Given the description of an element on the screen output the (x, y) to click on. 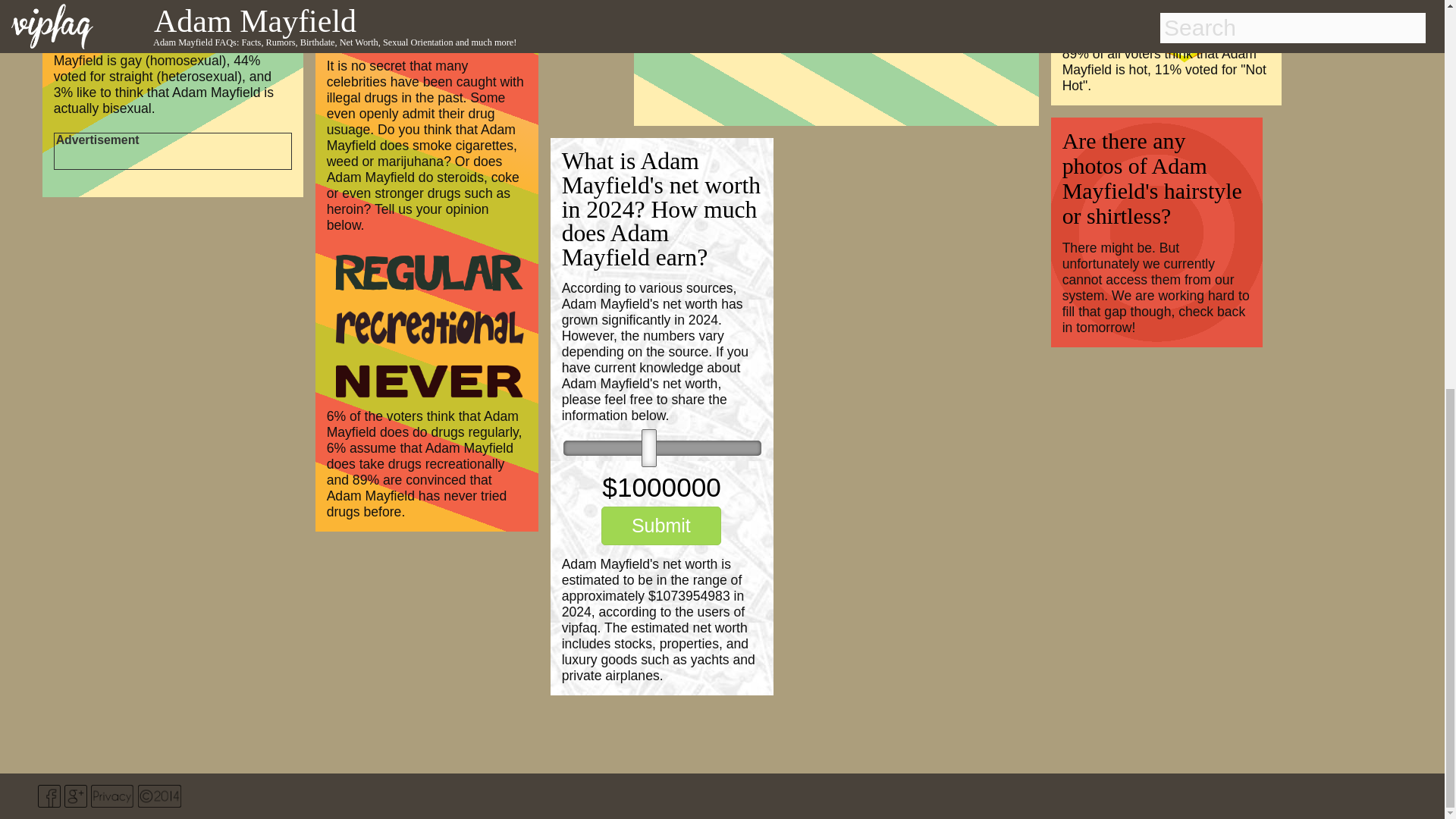
6 (662, 447)
Submit (660, 525)
Bi (94, 7)
